Given the description of an element on the screen output the (x, y) to click on. 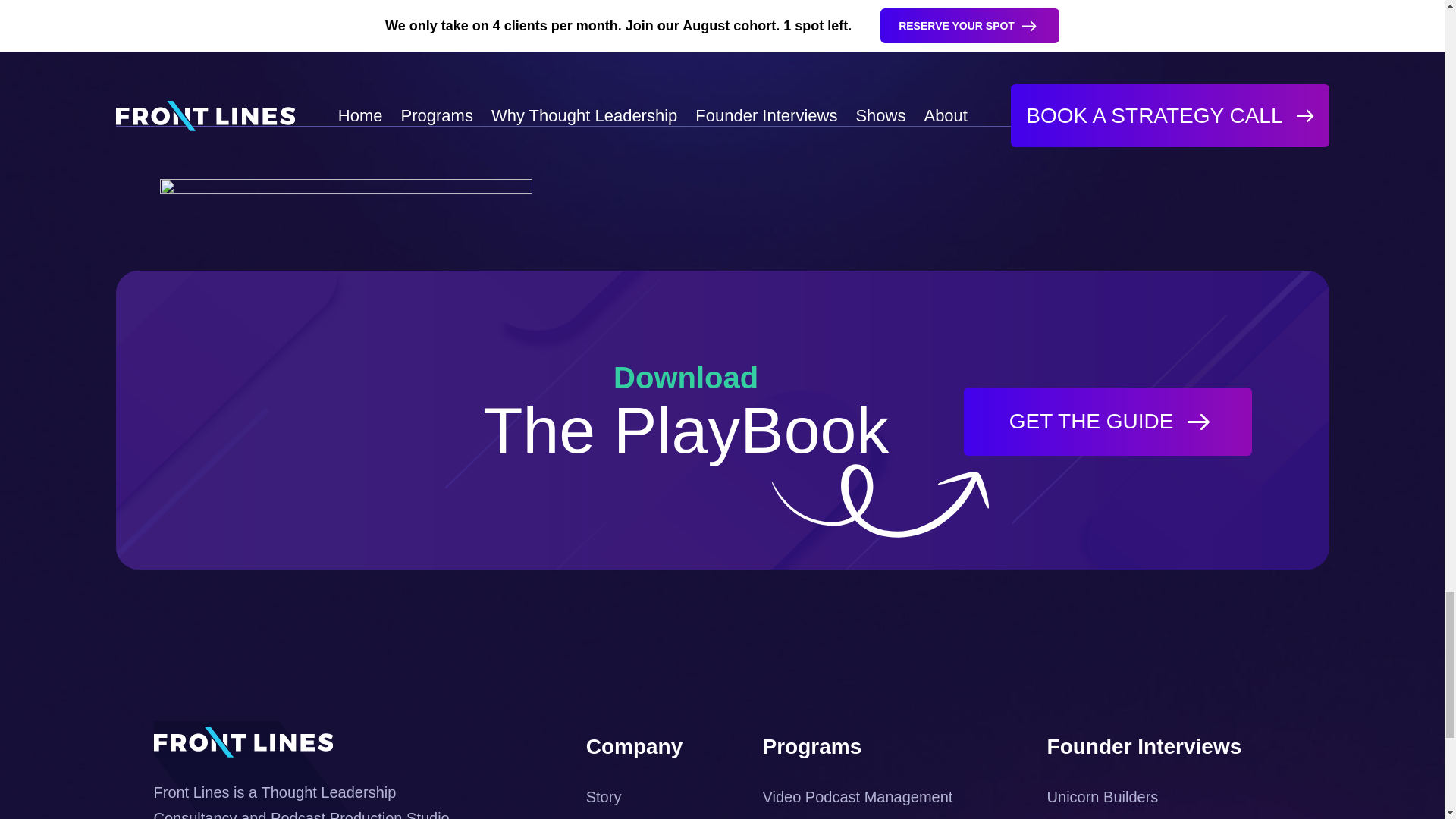
GET THE GUIDE (1107, 421)
Unicorn Builders (1102, 796)
Story (603, 796)
Video Podcast Management (857, 796)
